Given the description of an element on the screen output the (x, y) to click on. 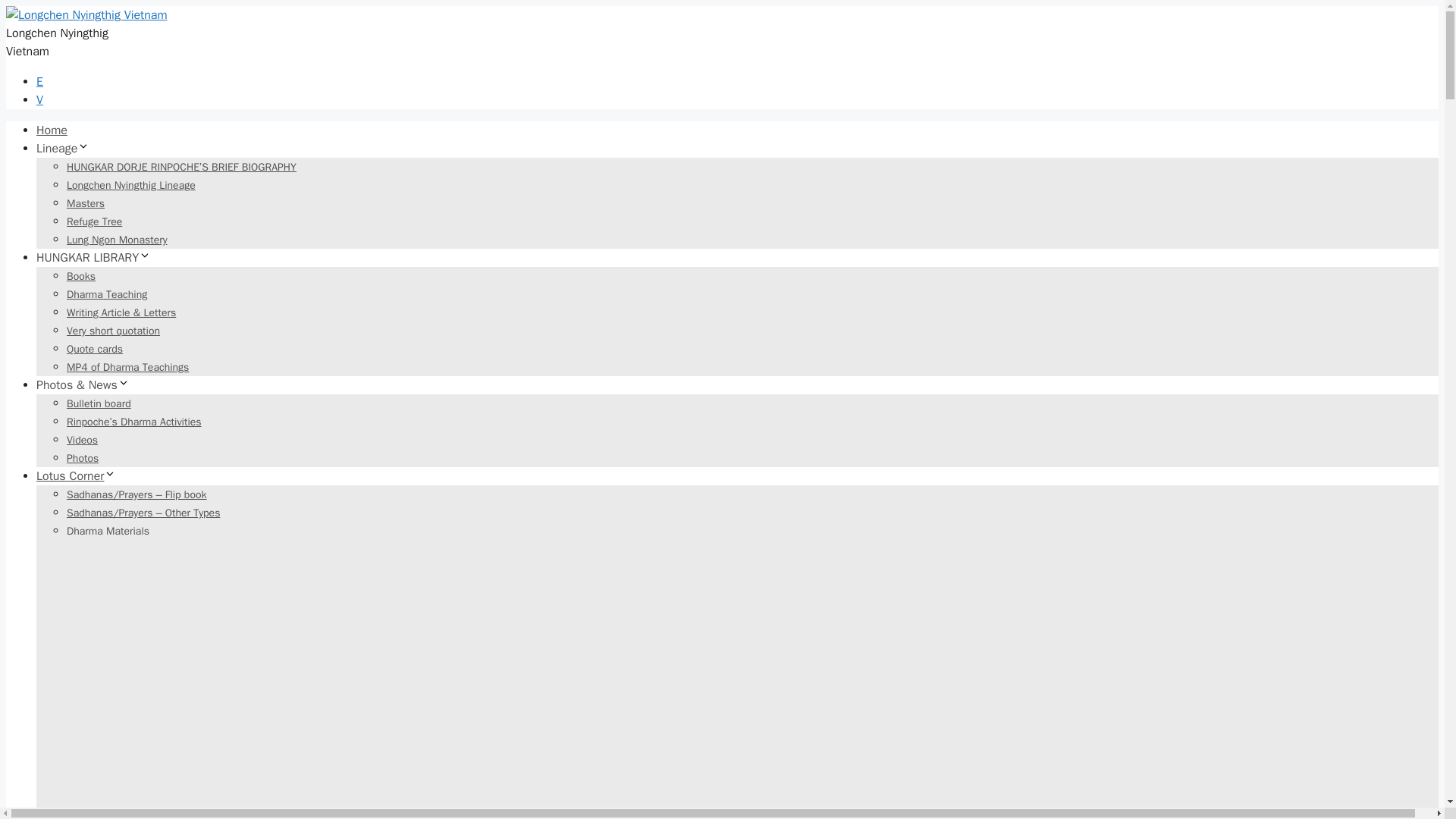
Longchen Nyingthig Vietnam (86, 14)
Very short quotation (113, 330)
Lung Ngon Monastery (116, 239)
Masters (85, 203)
Bulletin board (98, 403)
Books (81, 276)
HUNGKAR LIBRARY (93, 257)
Quote cards (94, 349)
Videos (81, 440)
Dharma Teaching (106, 294)
